Given the description of an element on the screen output the (x, y) to click on. 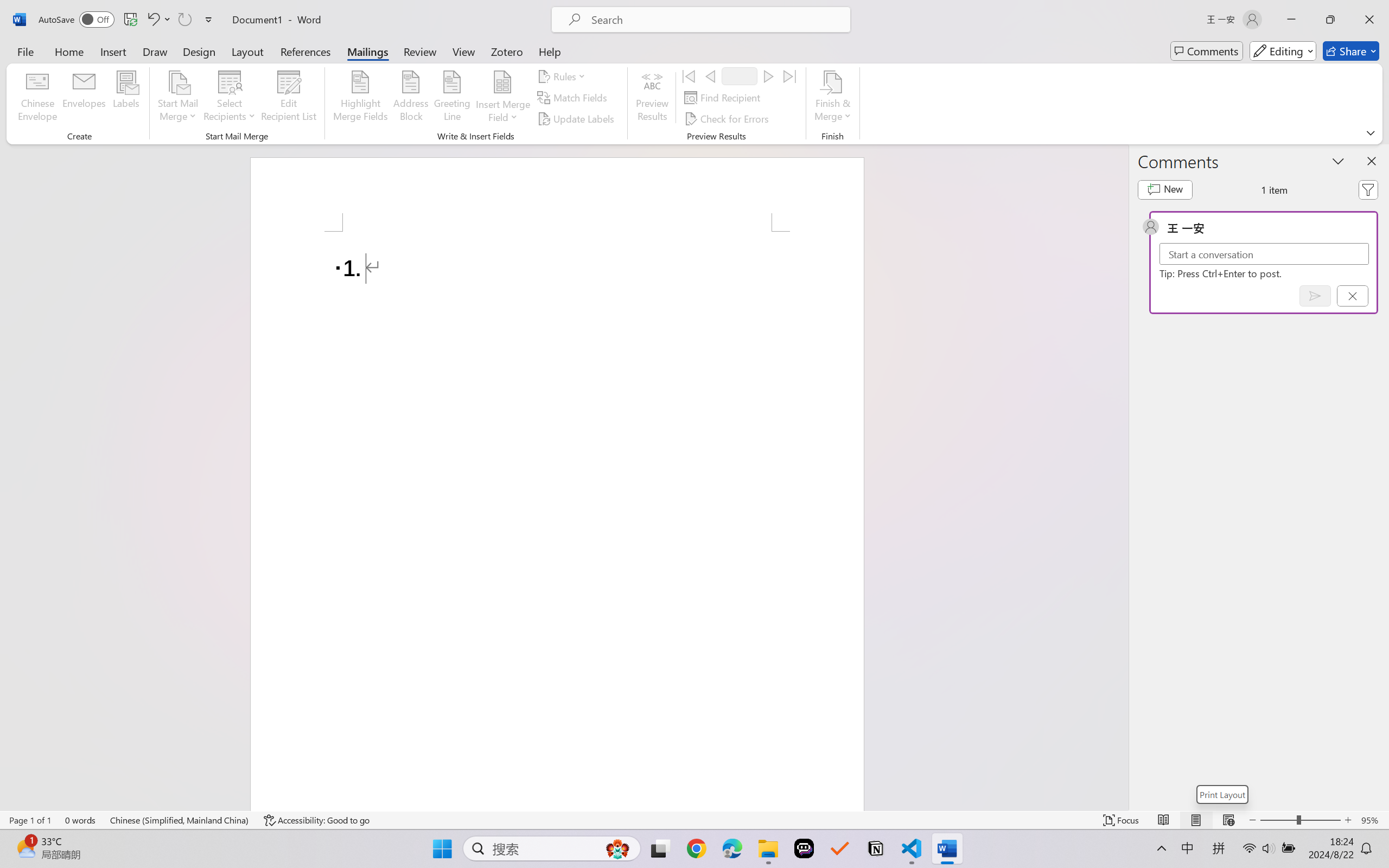
Highlight Merge Fields (360, 97)
Find Recipient... (723, 97)
Previous (709, 75)
Edit Recipient List... (288, 97)
Repeat Doc Close (184, 19)
